Given the description of an element on the screen output the (x, y) to click on. 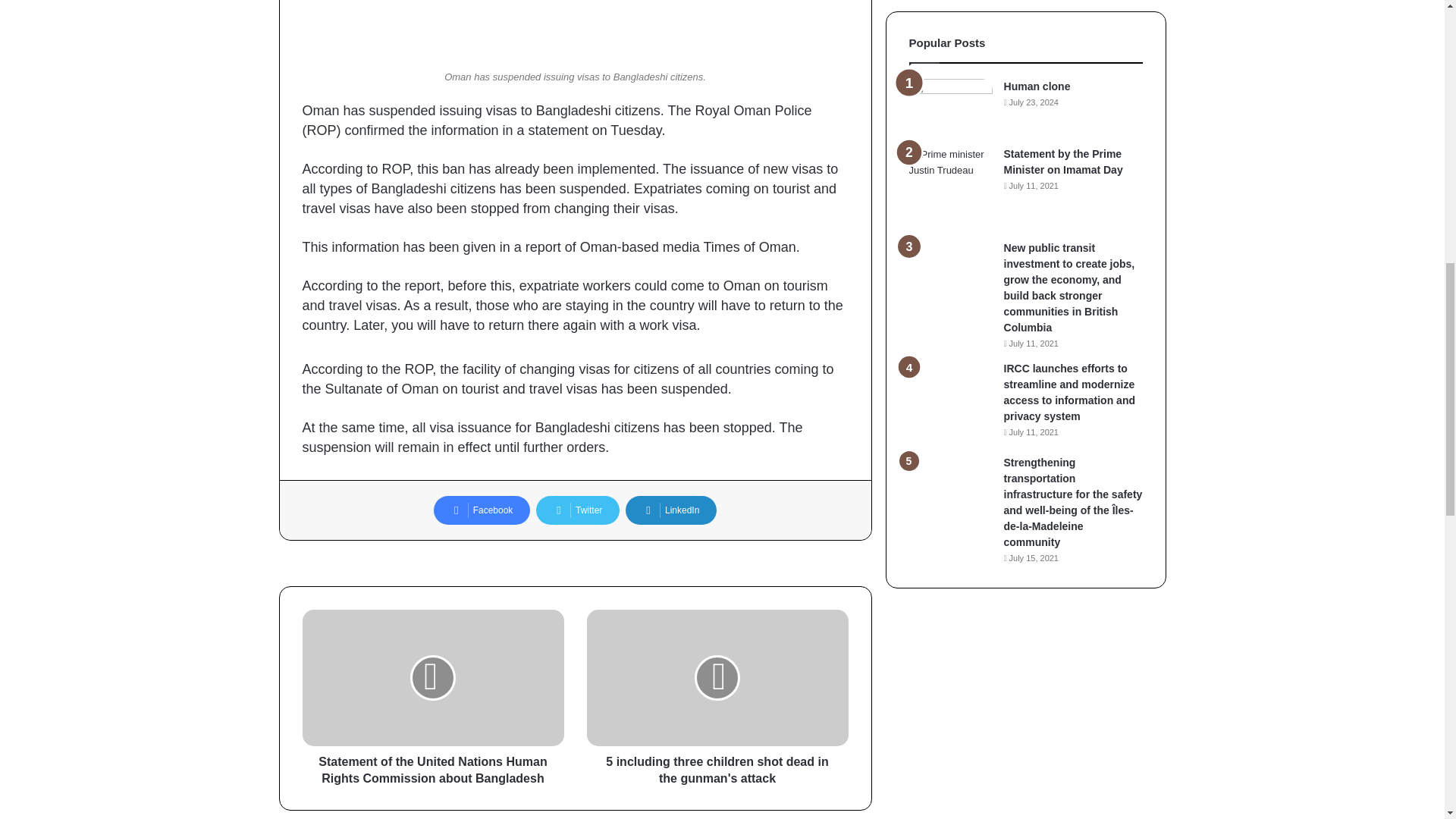
Twitter (577, 510)
Facebook (482, 510)
LinkedIn (671, 510)
Facebook (482, 510)
5 including three children shot dead in the gunman's attack (717, 766)
